Given the description of an element on the screen output the (x, y) to click on. 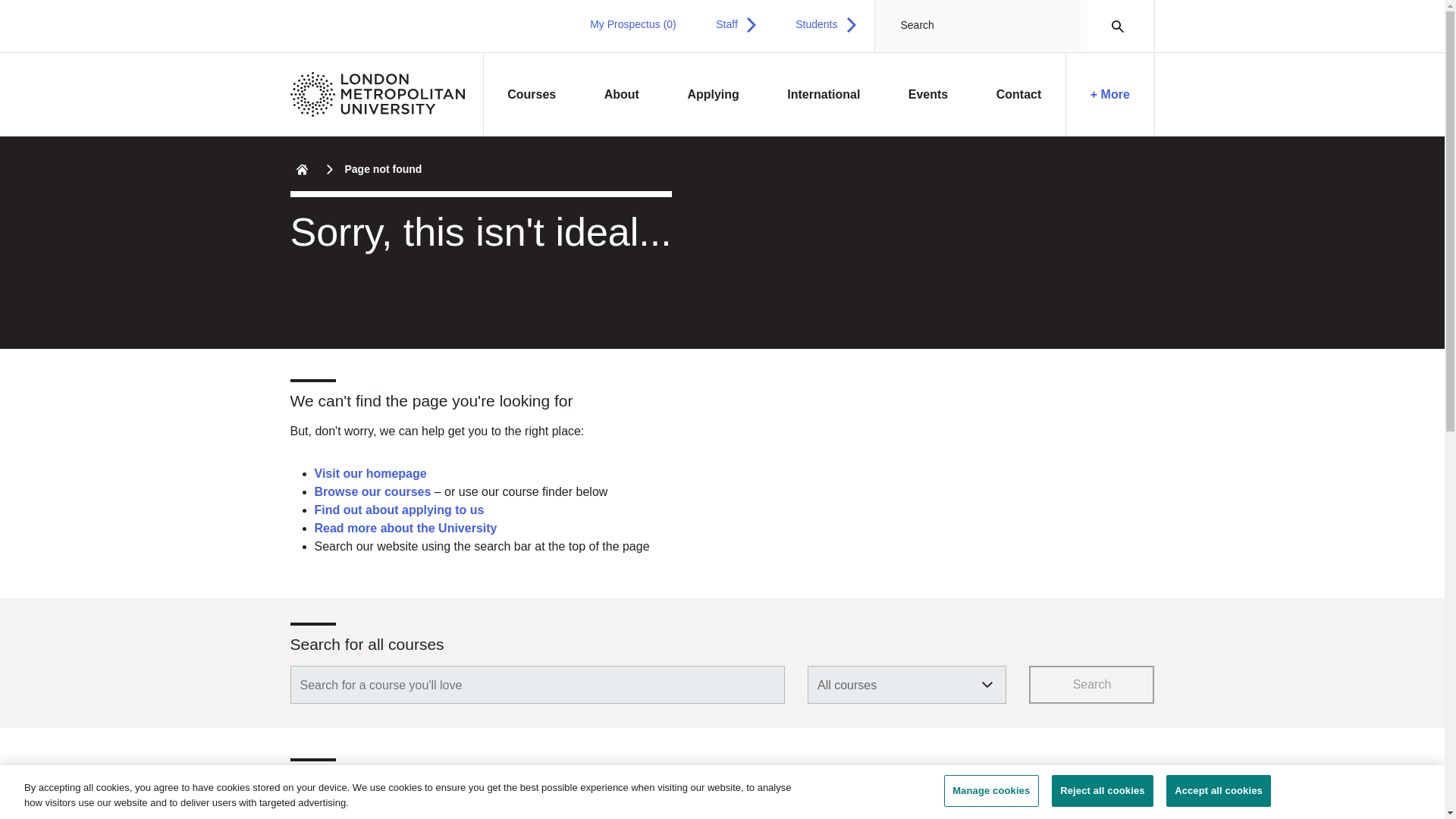
About (621, 94)
Search (1113, 26)
Staff (735, 24)
Search for a course you'll love (536, 684)
Students (825, 24)
Search (1113, 26)
Courses (531, 94)
